Given the description of an element on the screen output the (x, y) to click on. 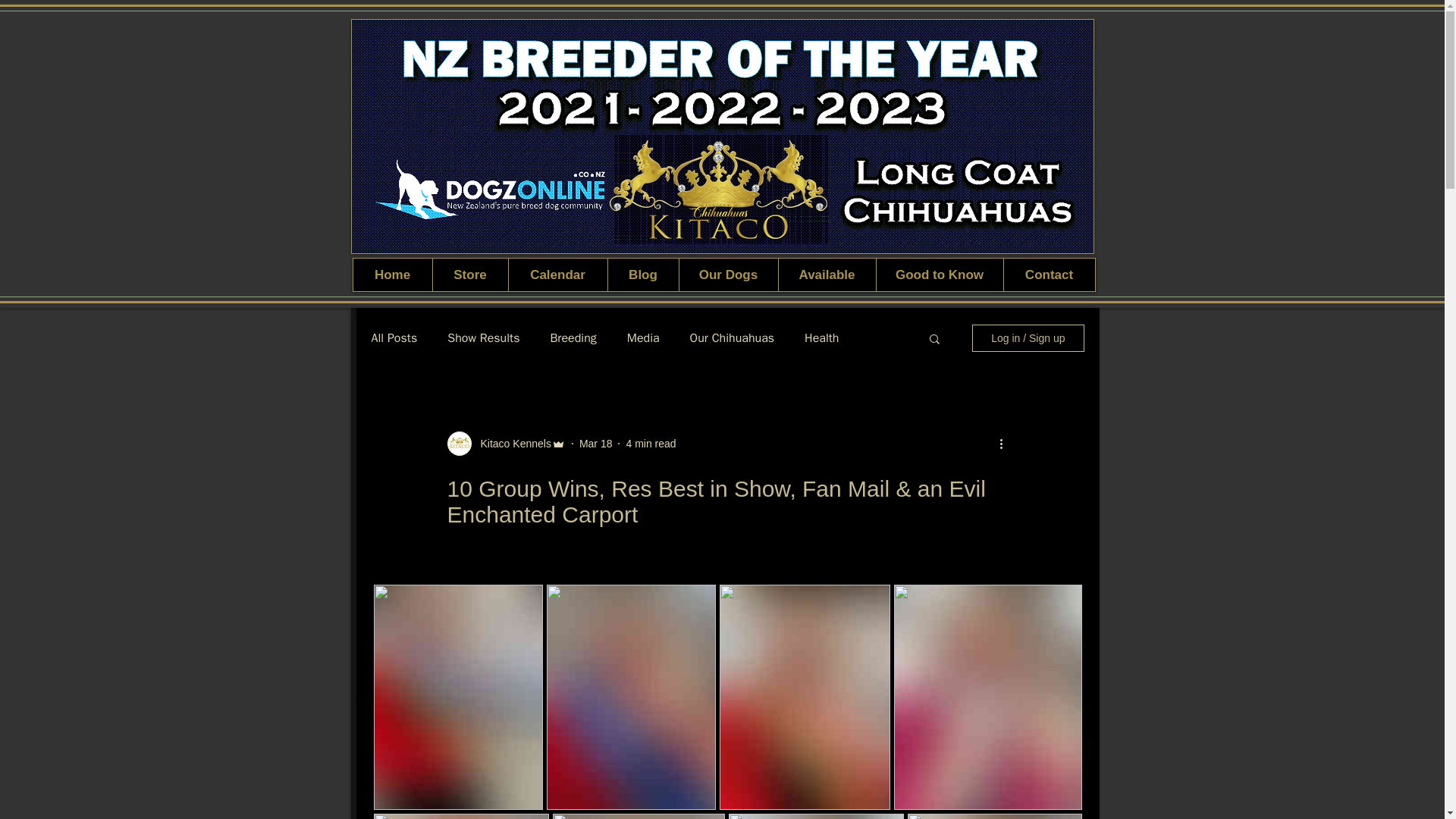
Calendar (557, 274)
Our Dogs (727, 274)
Available (826, 274)
4 min read (650, 442)
Good to Know (939, 274)
Mar 18 (595, 442)
Store (470, 274)
Kitaco Kennels (511, 442)
Blog (642, 274)
Home (392, 274)
